Given the description of an element on the screen output the (x, y) to click on. 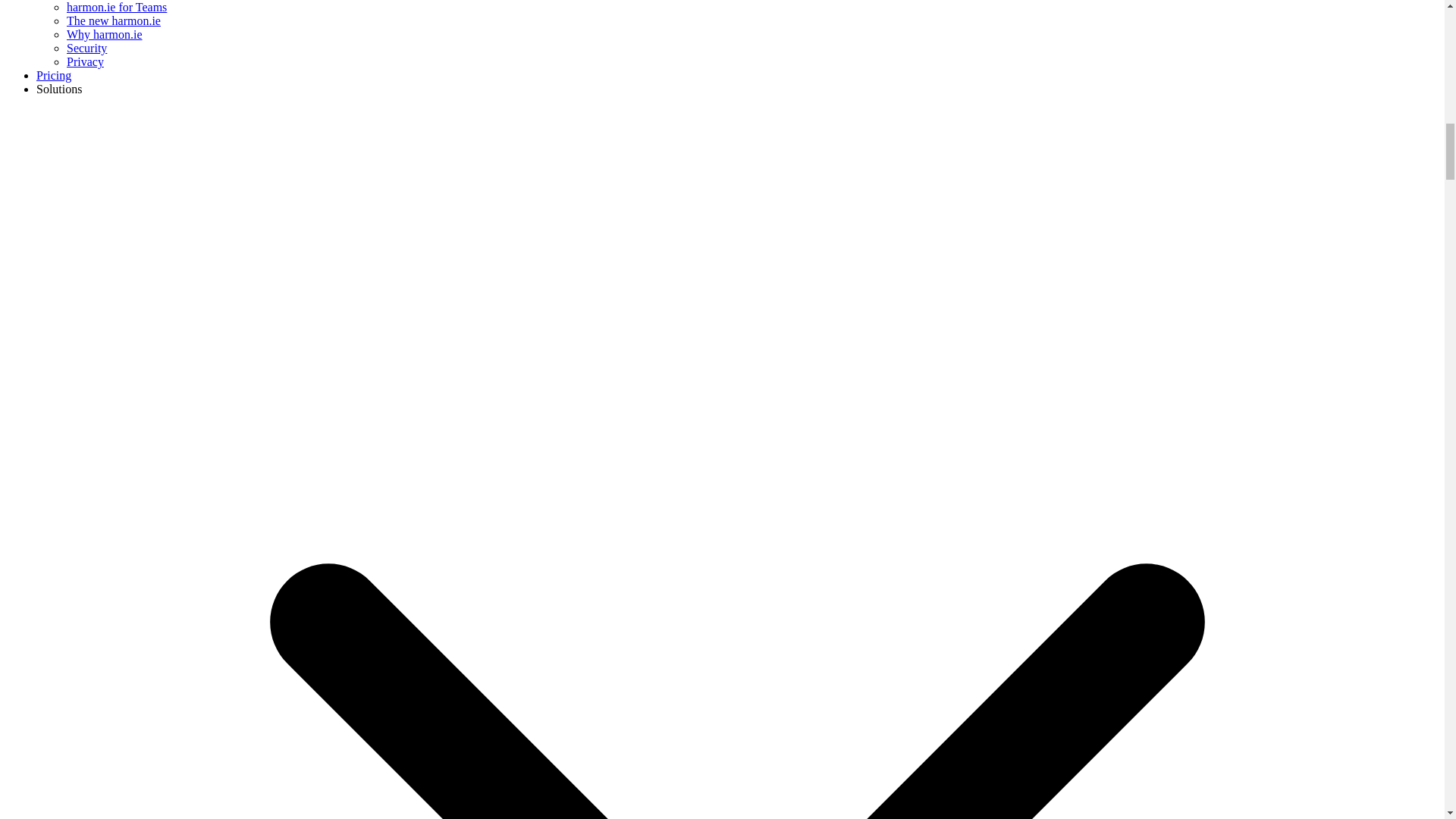
Security (86, 47)
The new harmon.ie (113, 20)
Why harmon.ie (104, 33)
Privacy (84, 61)
Pricing (53, 74)
harmon.ie for Teams (116, 6)
